Given the description of an element on the screen output the (x, y) to click on. 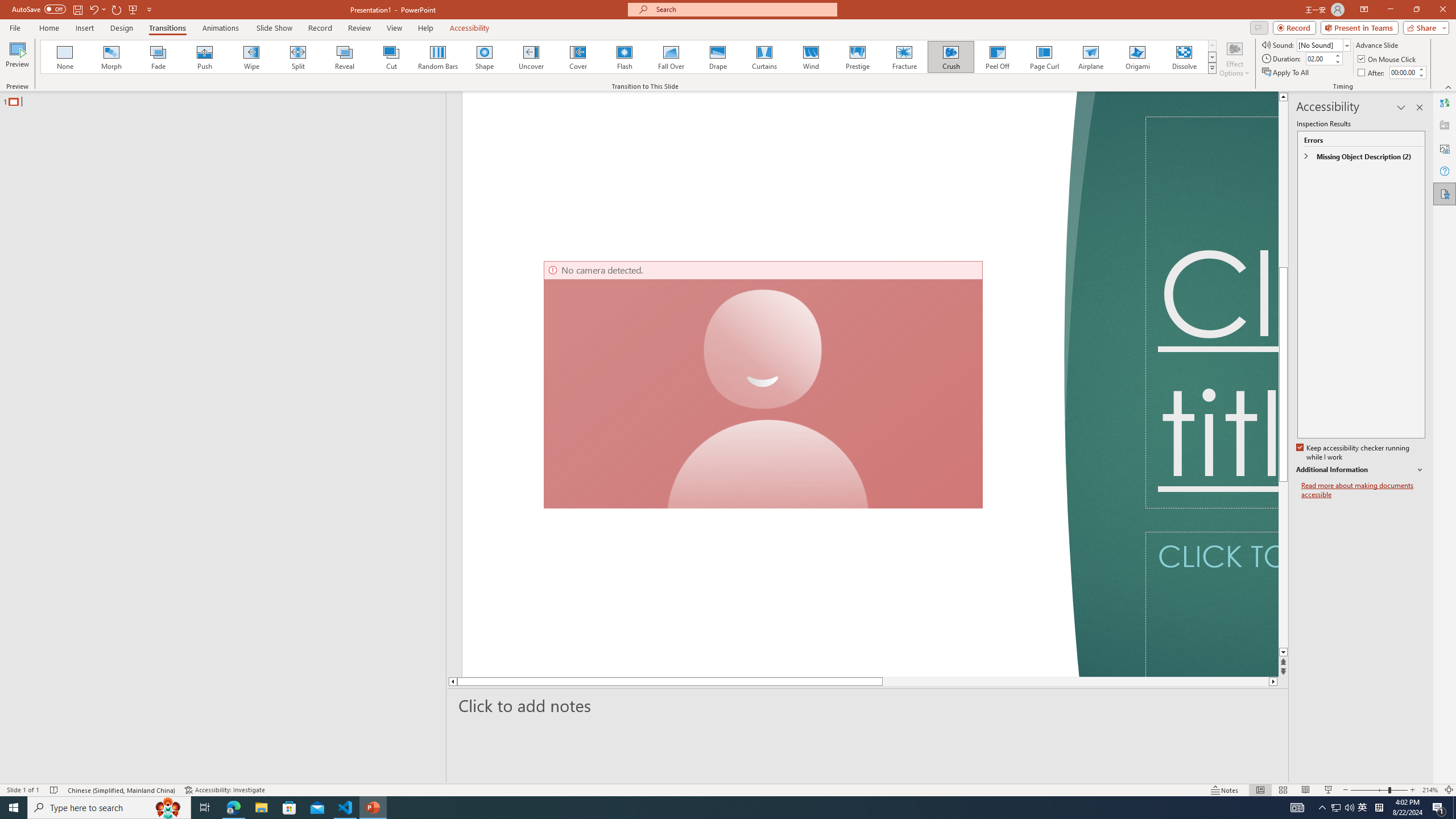
Morph (111, 56)
Duration (1319, 58)
